Given the description of an element on the screen output the (x, y) to click on. 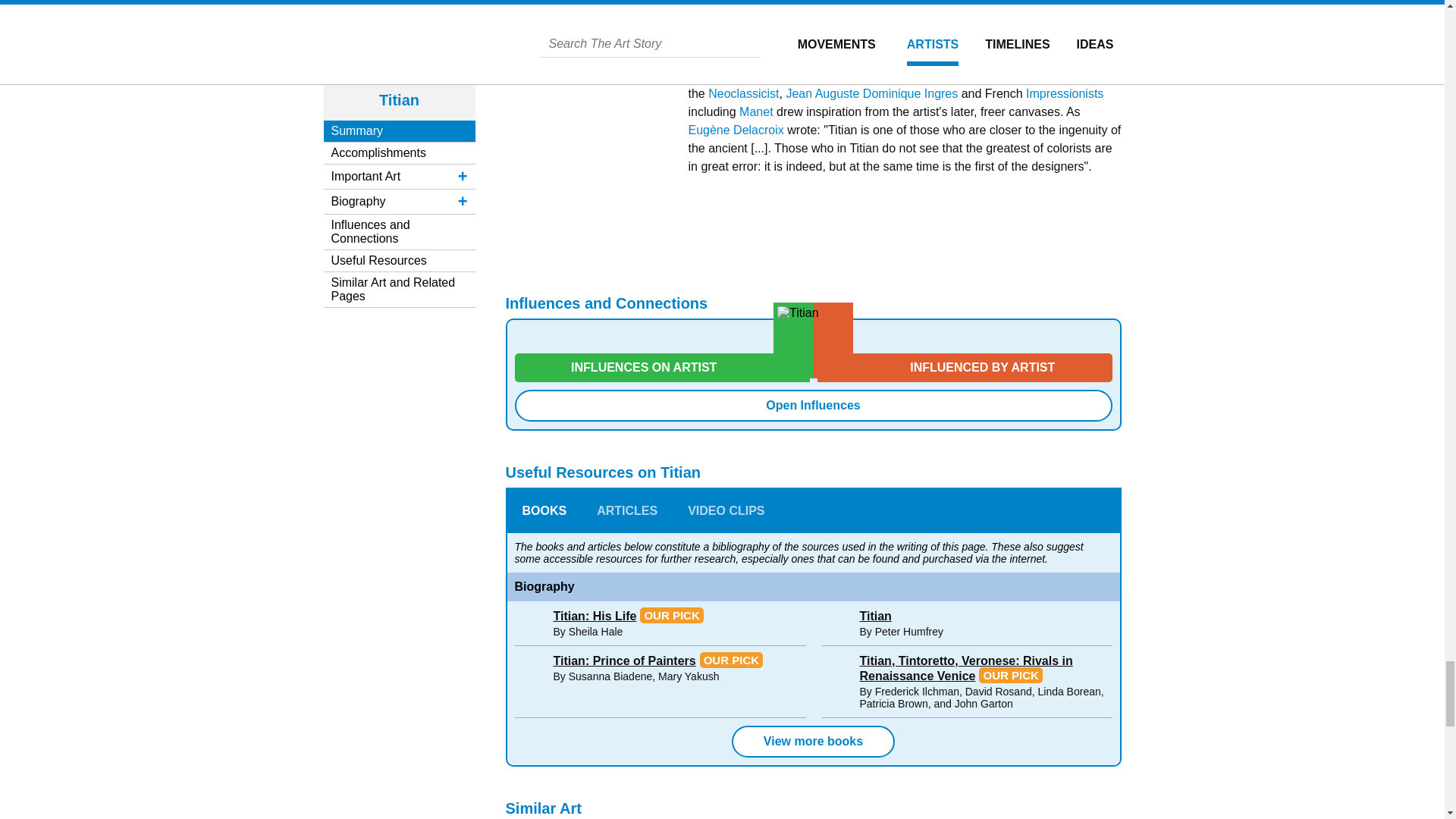
Sir Joshua Reynolds (898, 47)
Impressionists (1064, 92)
Jean Auguste Dominique Ingres (872, 92)
Neoclassicist (742, 92)
